Given the description of an element on the screen output the (x, y) to click on. 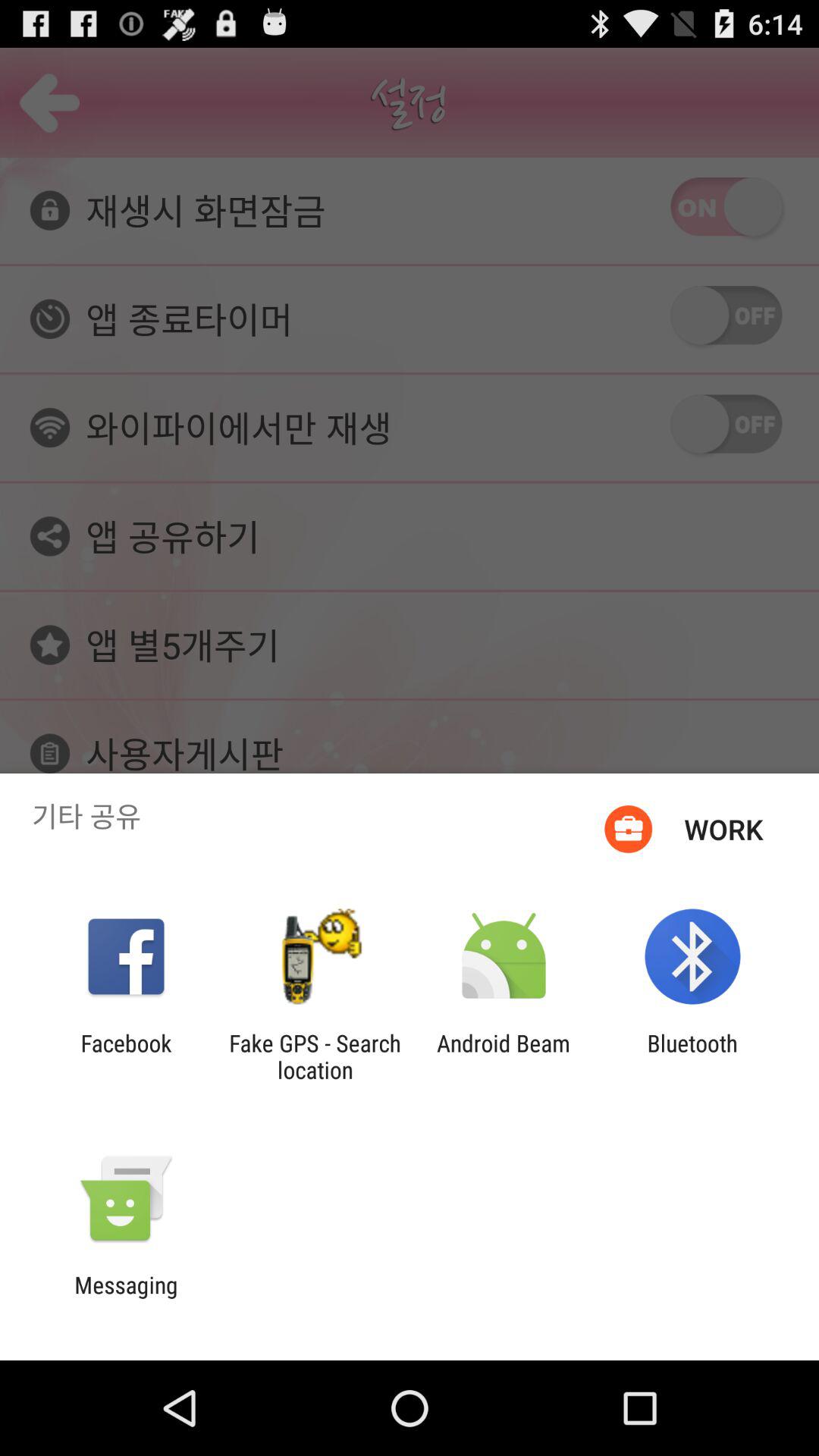
click fake gps search item (314, 1056)
